Given the description of an element on the screen output the (x, y) to click on. 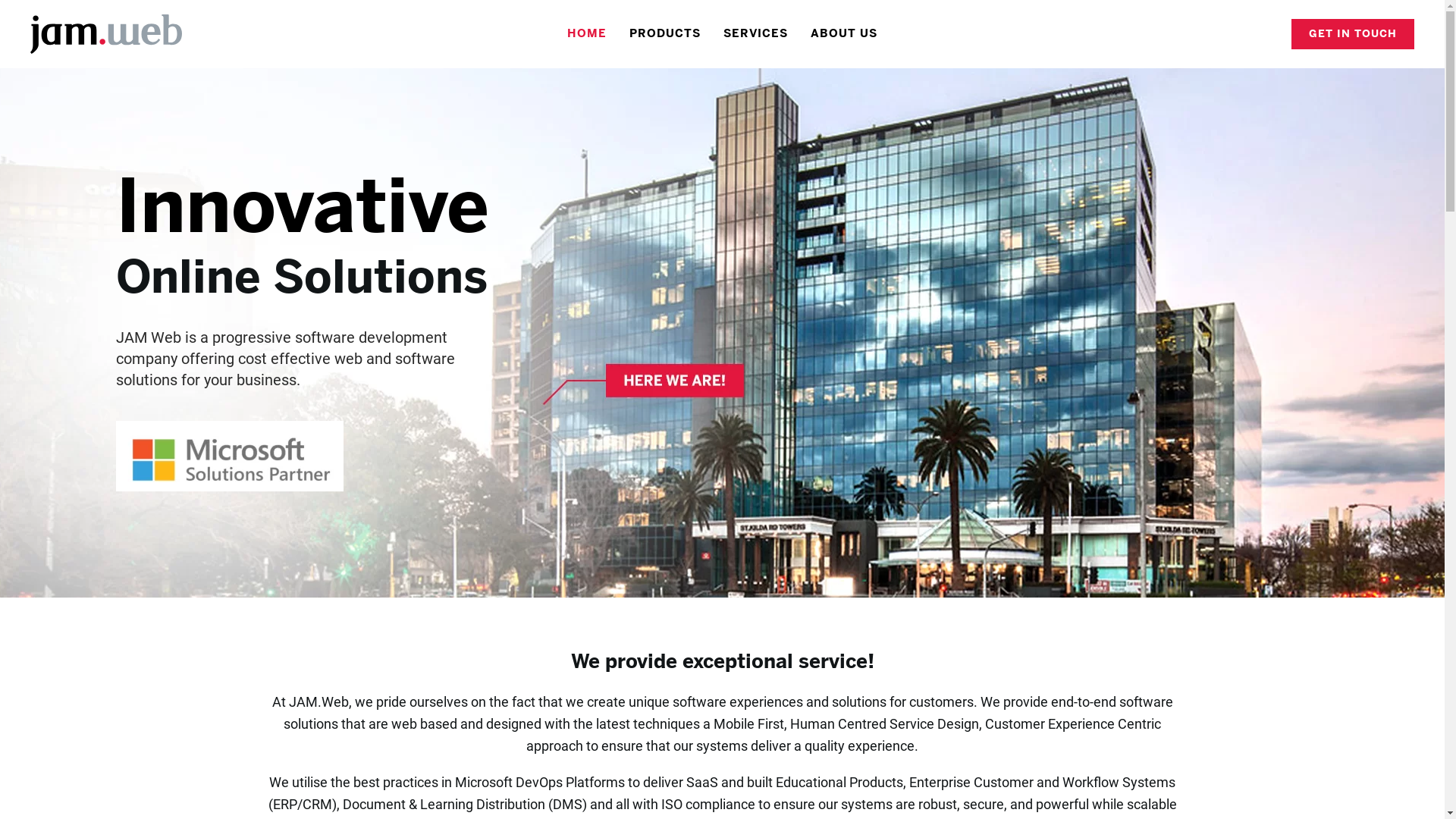
GET IN TOUCH Element type: text (1352, 33)
SERVICES Element type: text (755, 34)
ABOUT US Element type: text (843, 34)
PRODUCTS Element type: text (665, 34)
HOME Element type: text (586, 34)
